Given the description of an element on the screen output the (x, y) to click on. 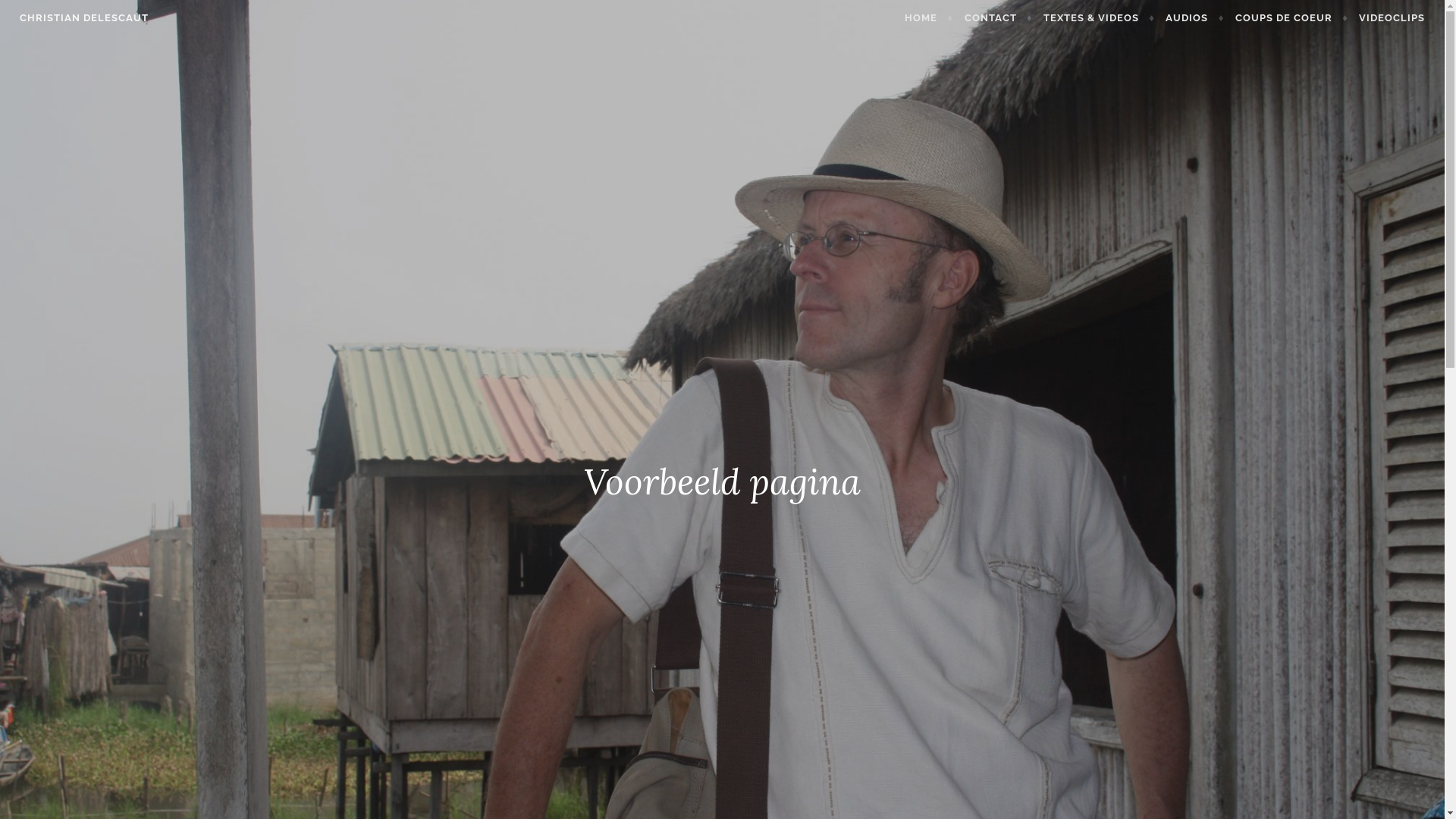
COUPS DE COEUR Element type: text (1291, 17)
CHRISTIAN DELESCAUT Element type: text (83, 17)
CONTACT Element type: text (998, 17)
AUDIOS Element type: text (1194, 17)
HOME Element type: text (928, 17)
TEXTES & VIDEOS Element type: text (1098, 17)
VIDEOCLIPS Element type: text (1391, 17)
